Given the description of an element on the screen output the (x, y) to click on. 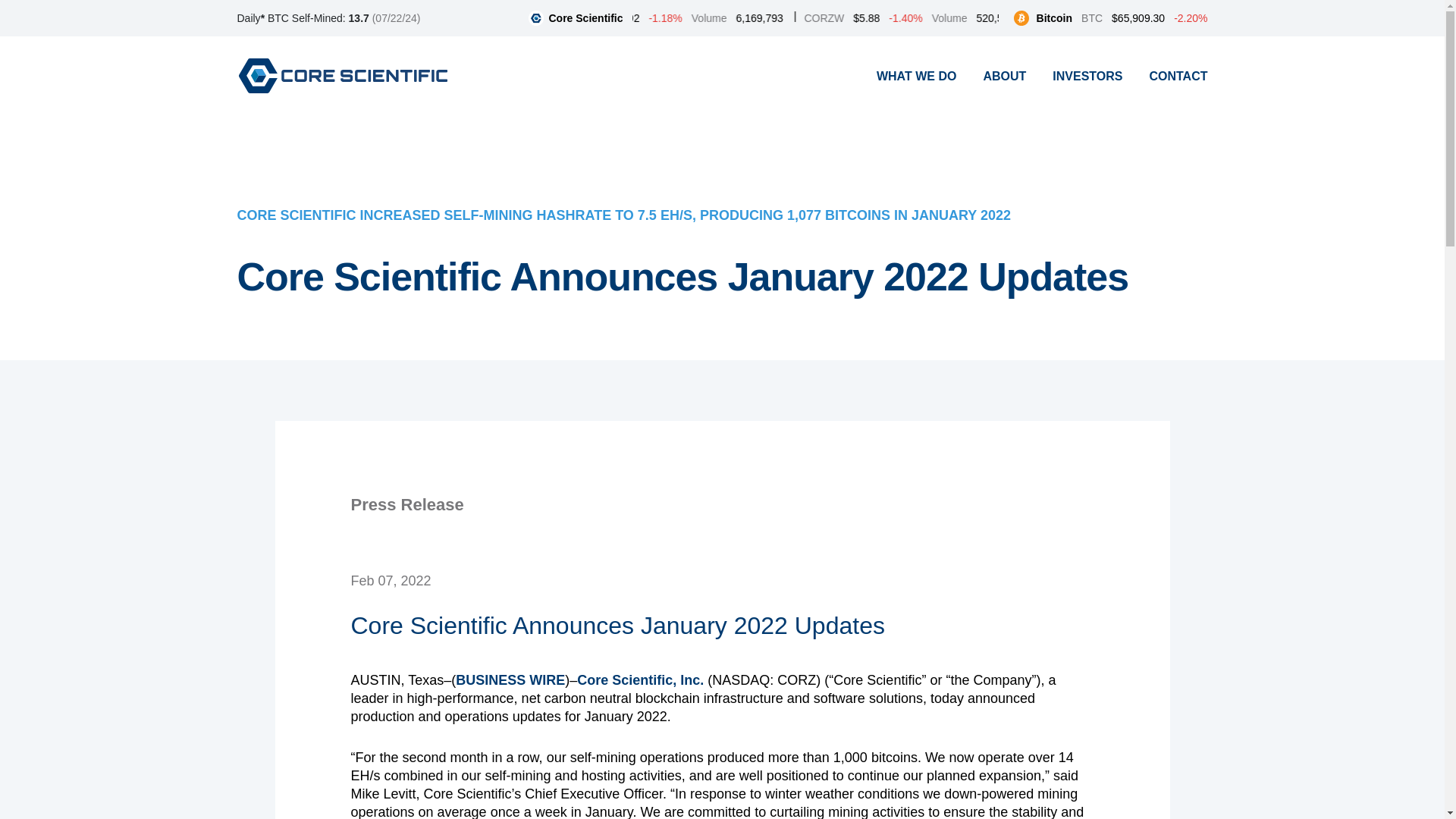
CONTACT (1177, 76)
Core Scientific, Inc. (639, 679)
INVESTORS (1087, 76)
ABOUT (1004, 76)
BUSINESS WIRE (509, 679)
WHAT WE DO (916, 76)
